Given the description of an element on the screen output the (x, y) to click on. 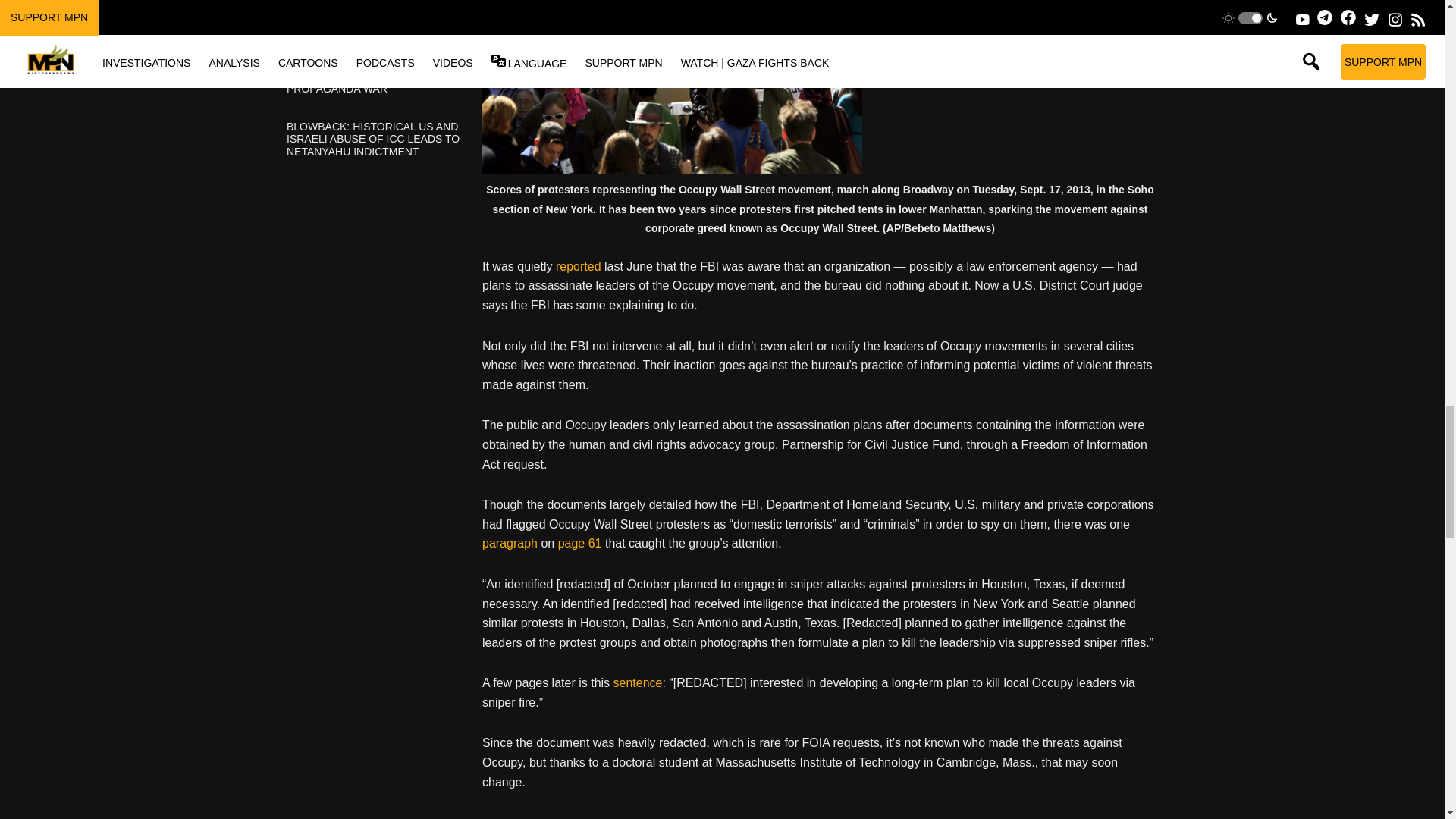
paragraph (509, 543)
sentence (637, 682)
reported (578, 266)
page 61 (579, 543)
